Given the description of an element on the screen output the (x, y) to click on. 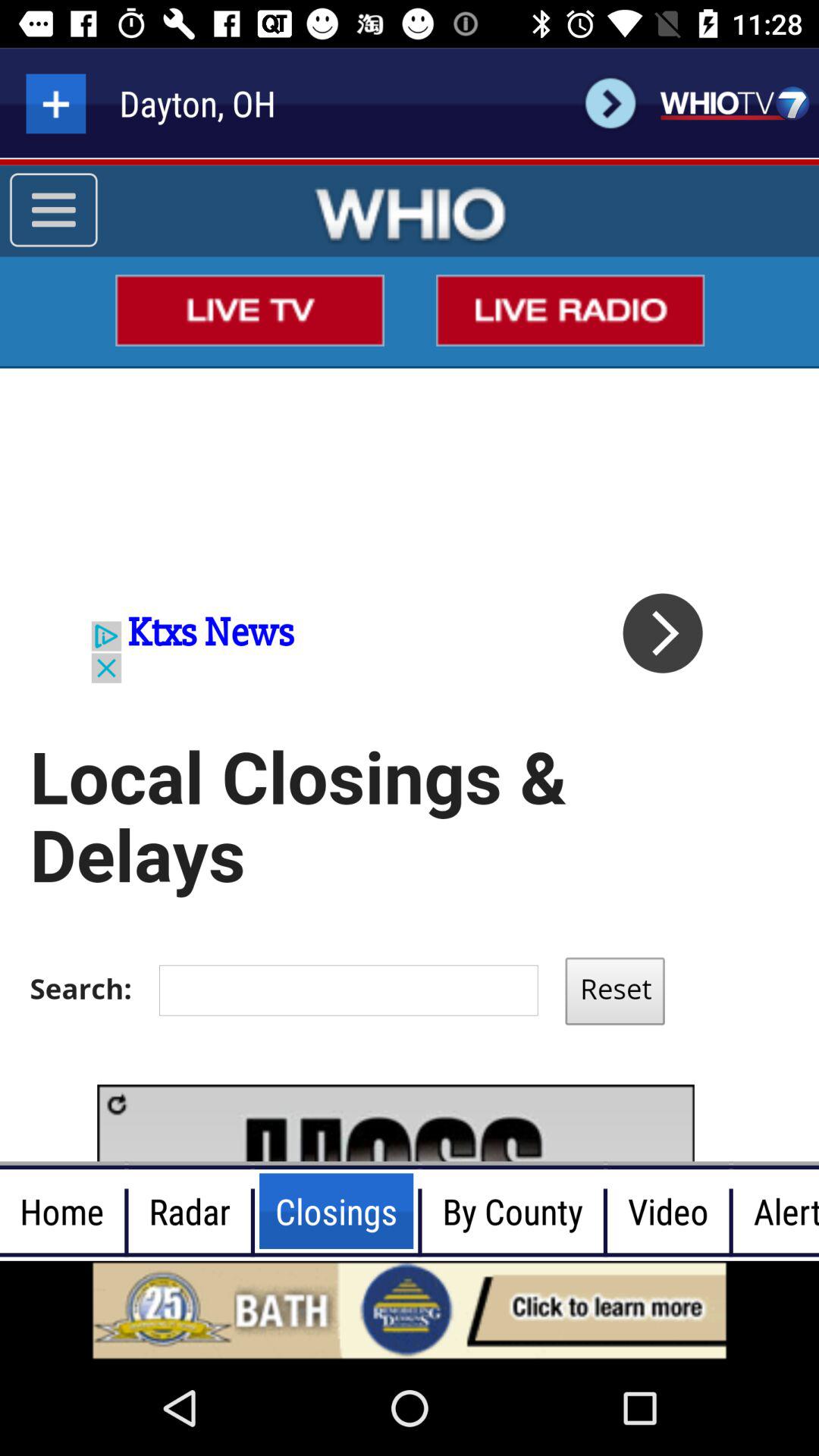
advertisement option (409, 1310)
